Given the description of an element on the screen output the (x, y) to click on. 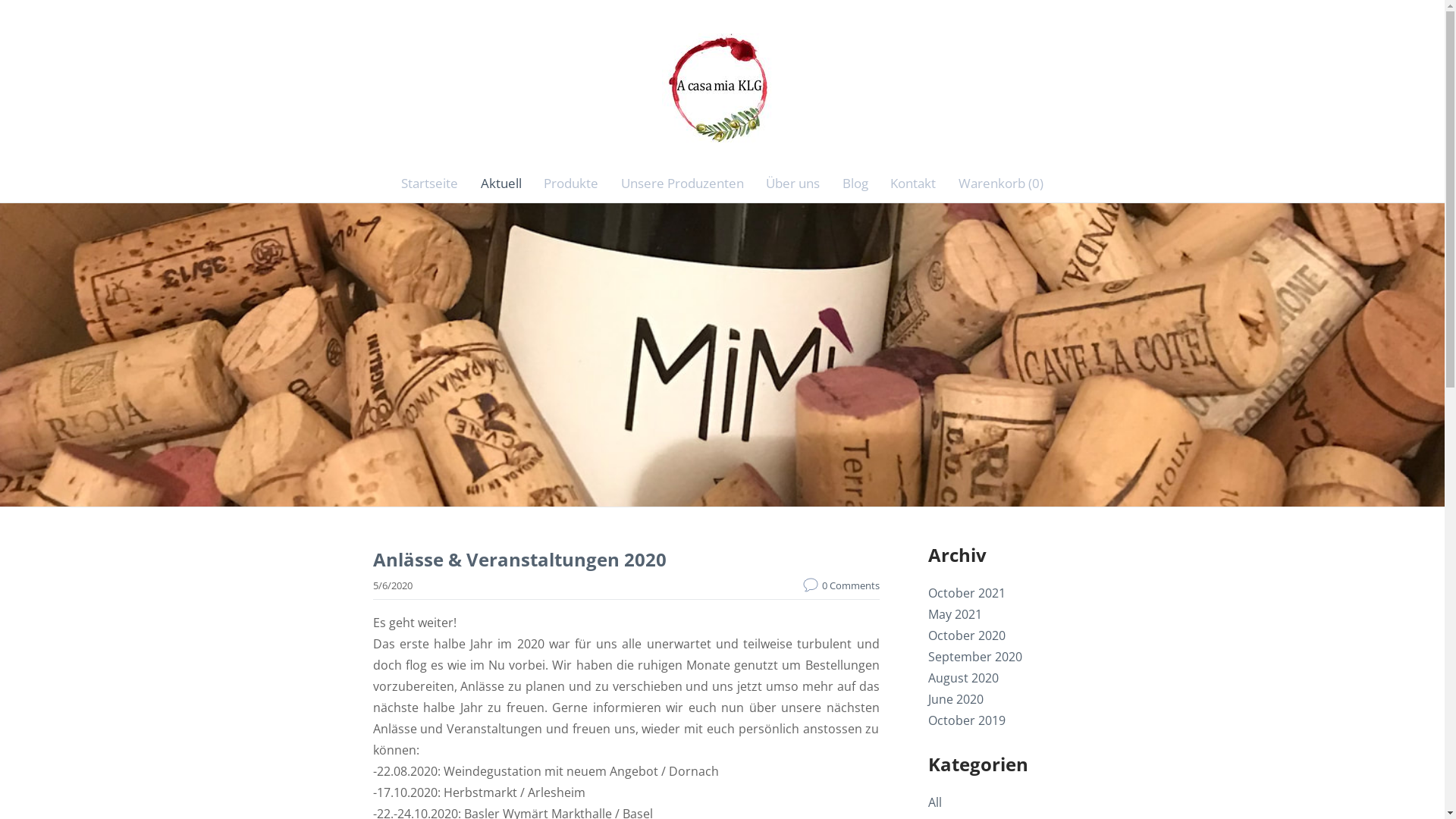
Warenkorb (0) Element type: text (1000, 182)
September 2020 Element type: text (975, 656)
Kontakt Element type: text (913, 182)
May 2021 Element type: text (955, 613)
Startseite Element type: text (429, 182)
Unsere Produzenten Element type: text (682, 182)
Produkte Element type: text (570, 182)
0 Comments Element type: text (840, 585)
Blog Element type: text (855, 182)
June 2020 Element type: text (955, 698)
October 2020 Element type: text (966, 635)
October 2021 Element type: text (966, 592)
August 2020 Element type: text (963, 677)
All Element type: text (934, 801)
Aktuell Element type: text (500, 182)
October 2019 Element type: text (966, 720)
